Given the description of an element on the screen output the (x, y) to click on. 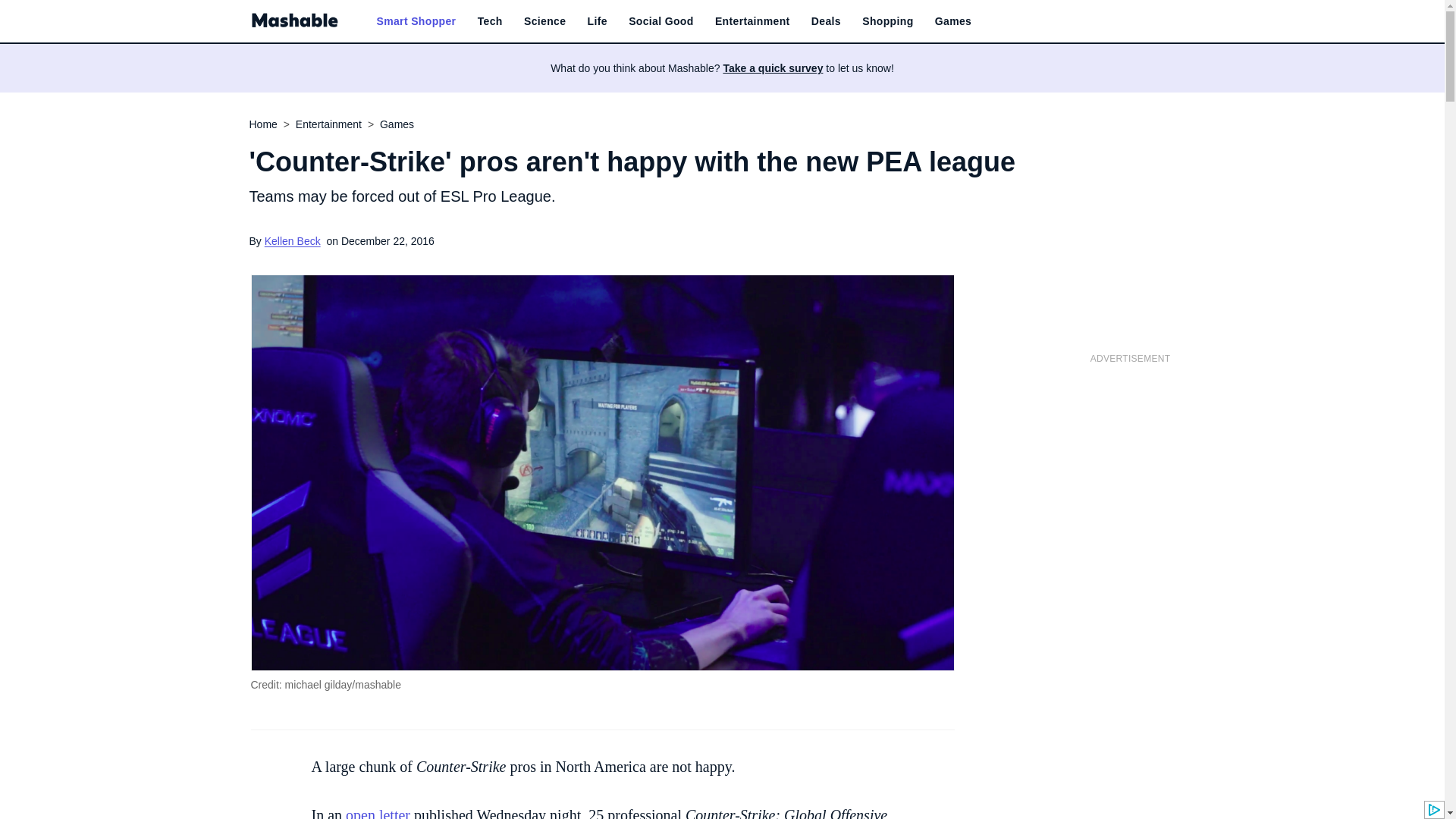
Entertainment (752, 21)
Social Good (661, 21)
Smart Shopper (415, 21)
Tech (489, 21)
Deals (825, 21)
Shopping (886, 21)
Life (597, 21)
Science (545, 21)
Games (952, 21)
